Given the description of an element on the screen output the (x, y) to click on. 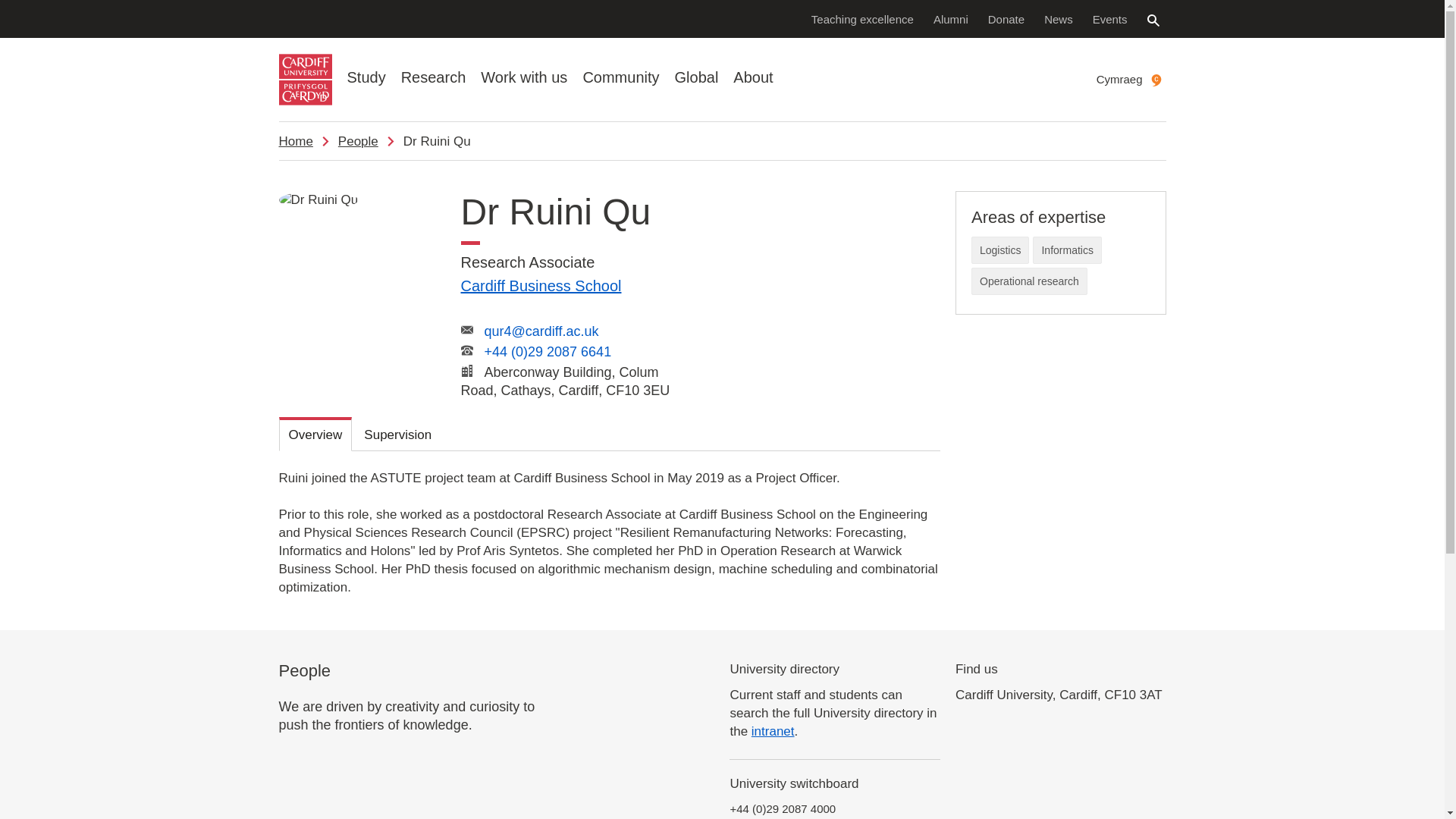
Donate (1005, 19)
cymraeg (1155, 80)
Telephone (467, 349)
Cardiff University logo (305, 79)
Search (1152, 20)
Email (467, 329)
News (1058, 19)
Alumni (951, 19)
Campuses (467, 370)
Cardiff University logo (305, 79)
Teaching excellence (862, 19)
Events (1109, 19)
